Given the description of an element on the screen output the (x, y) to click on. 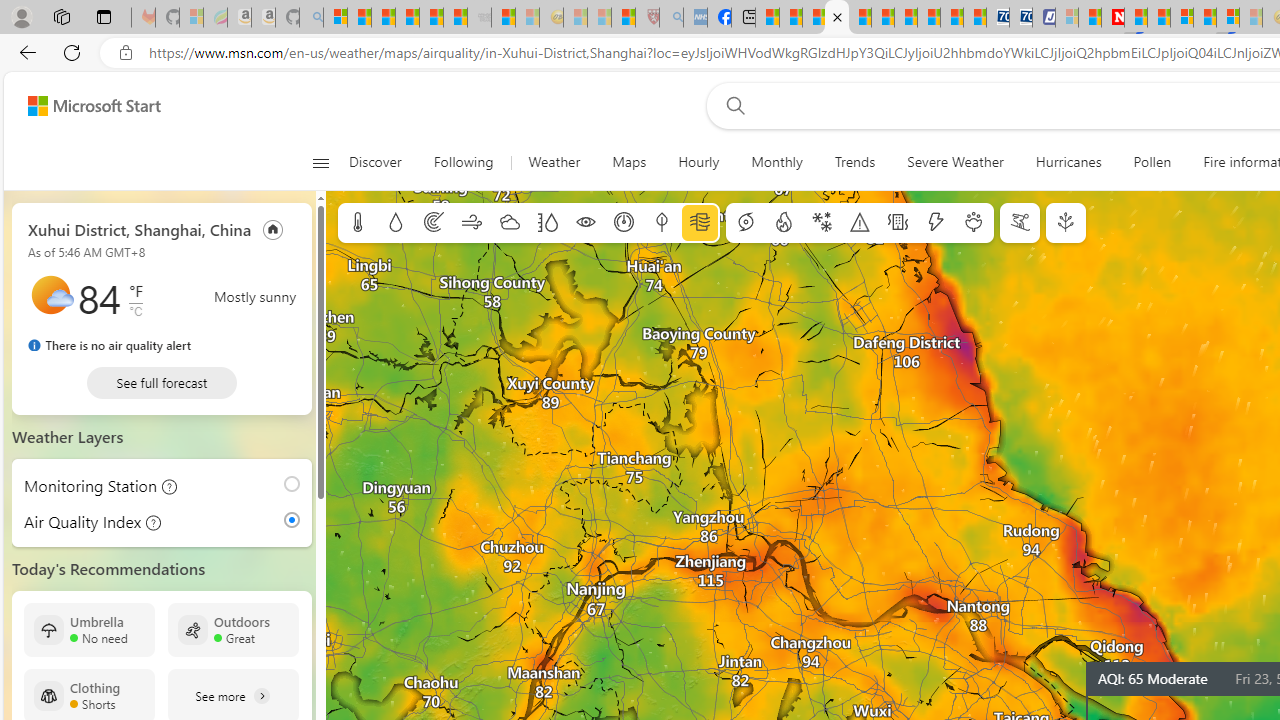
Sea level pressure (623, 223)
Weather (554, 162)
Following (465, 162)
Hourly (698, 162)
Combat Siege - Sleeping (479, 17)
Skip to footer (82, 105)
Trends (854, 162)
Class: button-glyph (320, 162)
Monitoring Station (295, 484)
Pollen (974, 223)
